Given the description of an element on the screen output the (x, y) to click on. 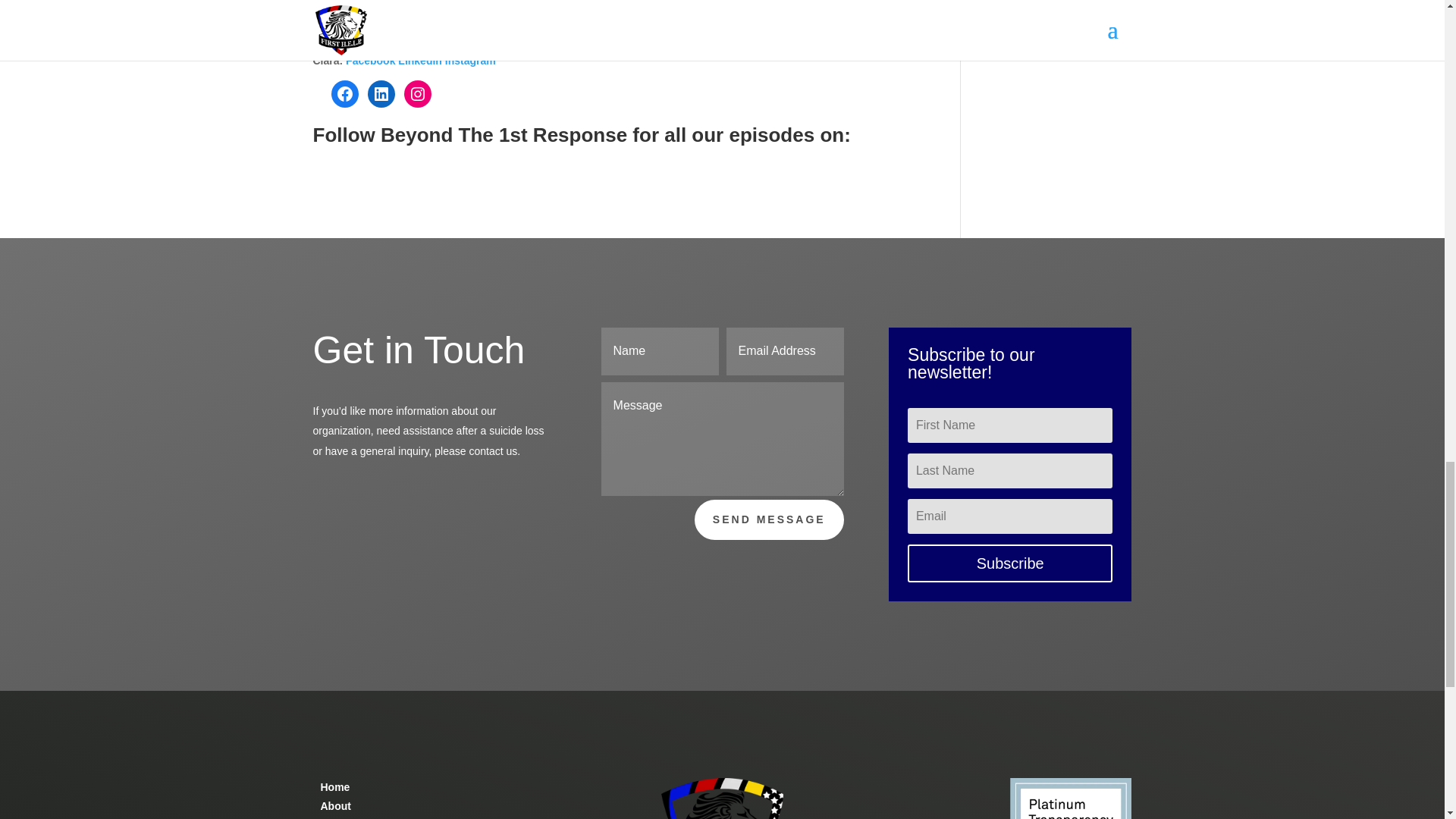
LinkedIn (380, 21)
Facebook (344, 21)
Facebook (344, 93)
LinkedIn (419, 60)
LinkedIn (380, 93)
Instagram (416, 93)
Instagram (470, 60)
Facebook (370, 60)
Instagram (416, 21)
